Given the description of an element on the screen output the (x, y) to click on. 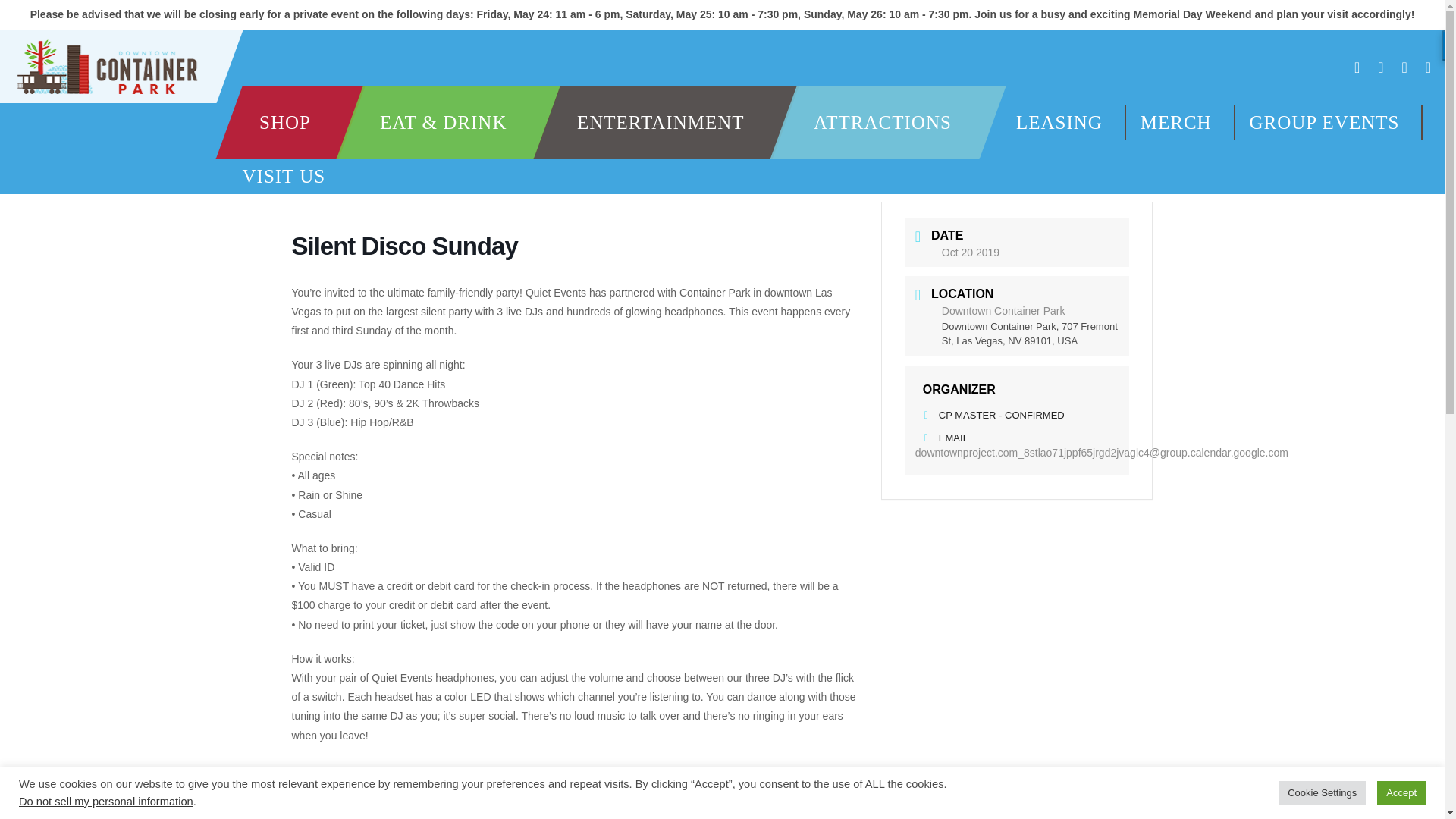
LEASING (1052, 122)
ATTRACTIONS (882, 122)
GROUP EVENTS (1324, 122)
ENTERTAINMENT (660, 122)
VISIT US (283, 176)
MERCH (1176, 122)
Sign in (721, 471)
SHOP (284, 122)
